Given the description of an element on the screen output the (x, y) to click on. 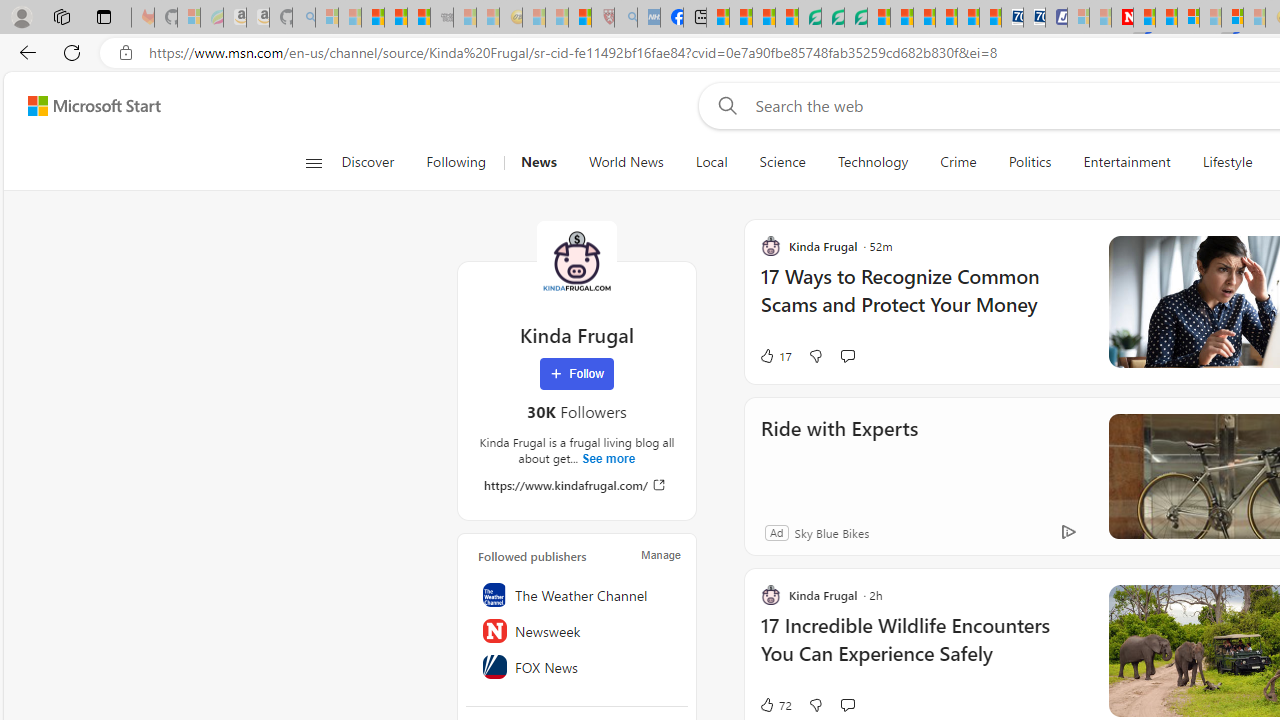
Microsoft Start - Sleeping (1100, 17)
Follow (577, 373)
https://www.kindafrugal.com/ (576, 484)
Discover (367, 162)
Ad (776, 532)
17 Ways to Recognize Common Scams and Protect Your Money (922, 300)
Kinda Frugal (576, 260)
72 Like (775, 704)
list of asthma inhalers uk - Search - Sleeping (625, 17)
